Given the description of an element on the screen output the (x, y) to click on. 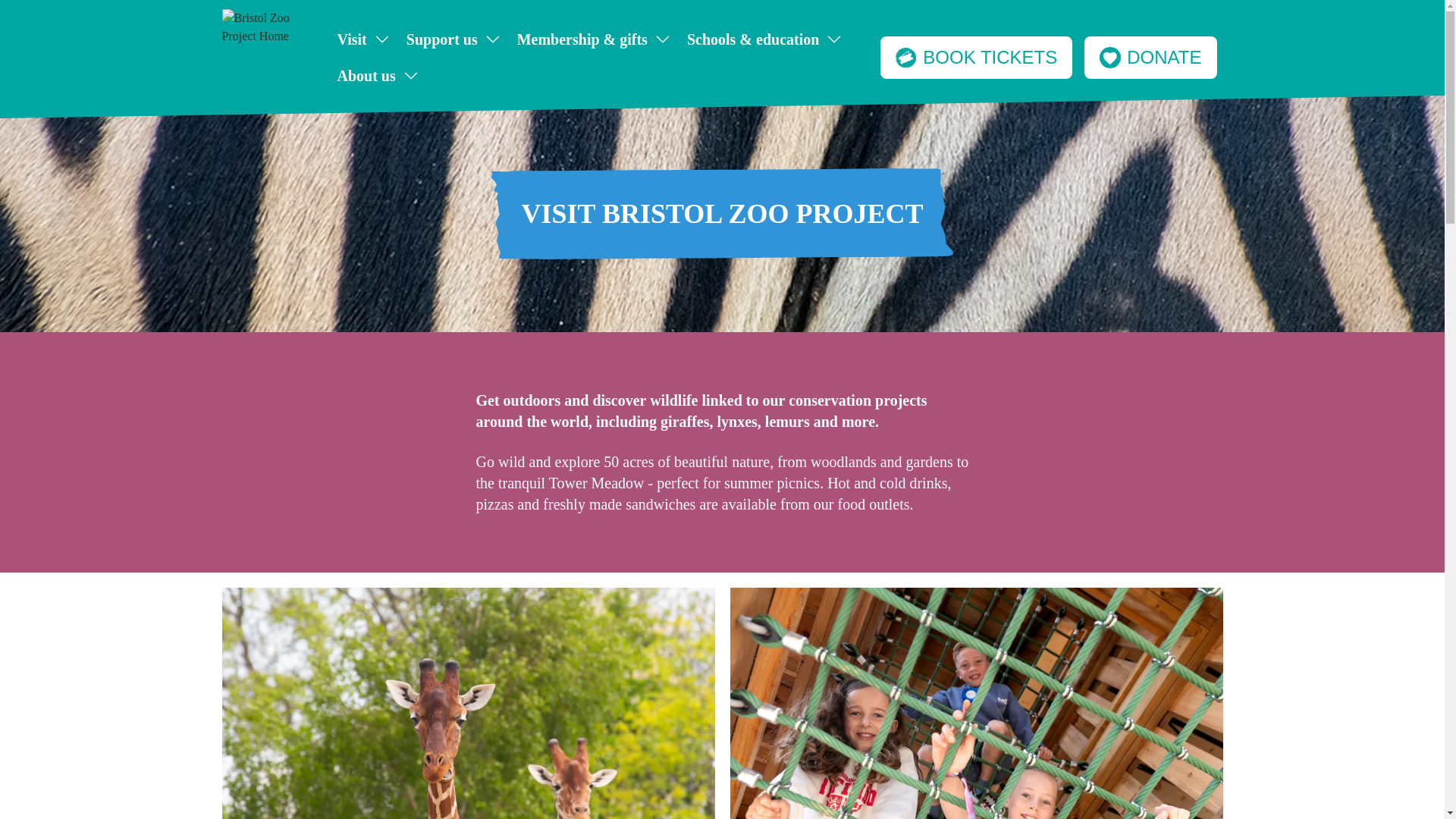
Support us (454, 38)
BOOK TICKETS (975, 57)
Visit (363, 38)
About us (377, 75)
DONATE (1149, 57)
